Given the description of an element on the screen output the (x, y) to click on. 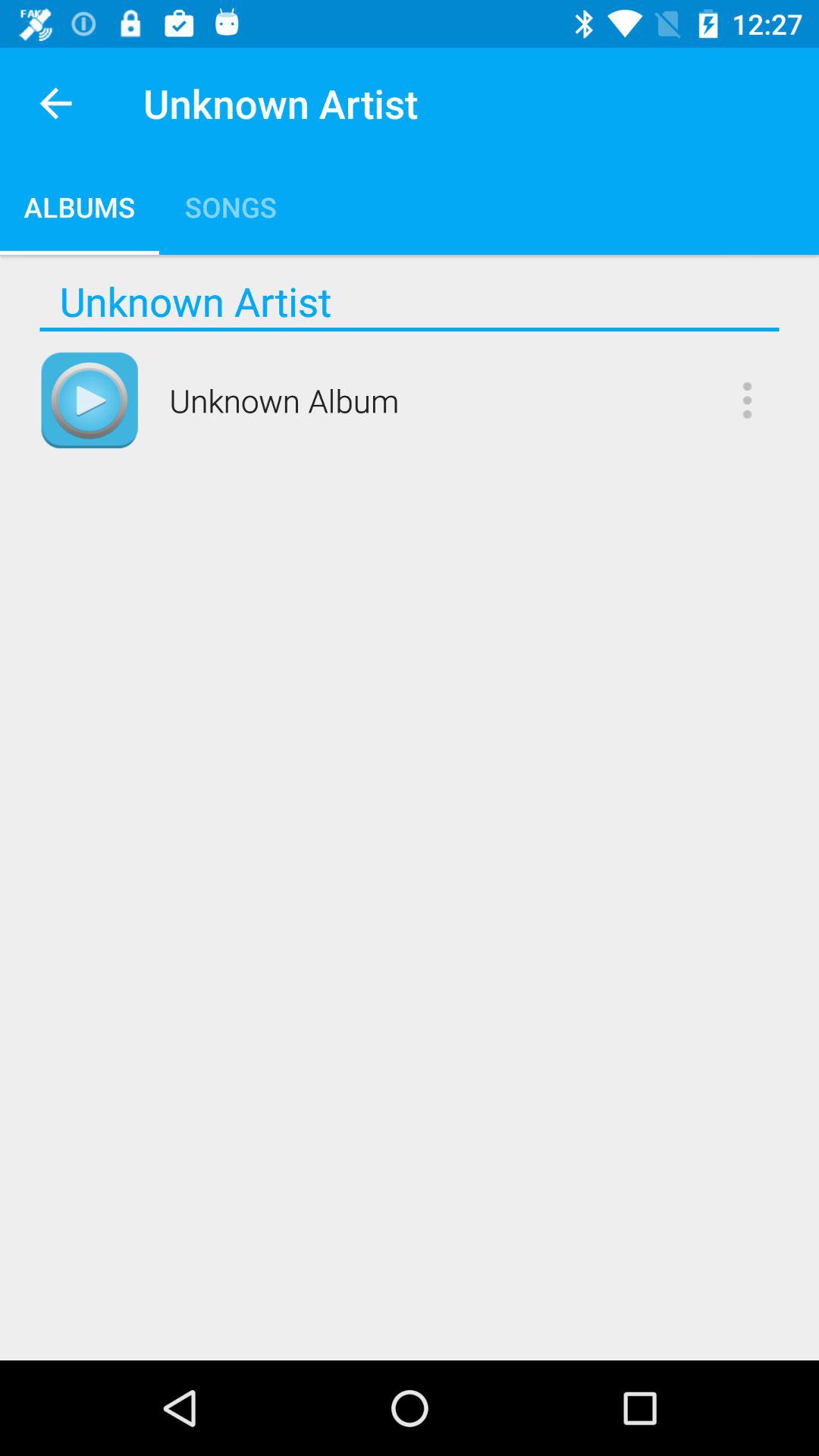
choose app to the left of the unknown artist item (55, 103)
